Given the description of an element on the screen output the (x, y) to click on. 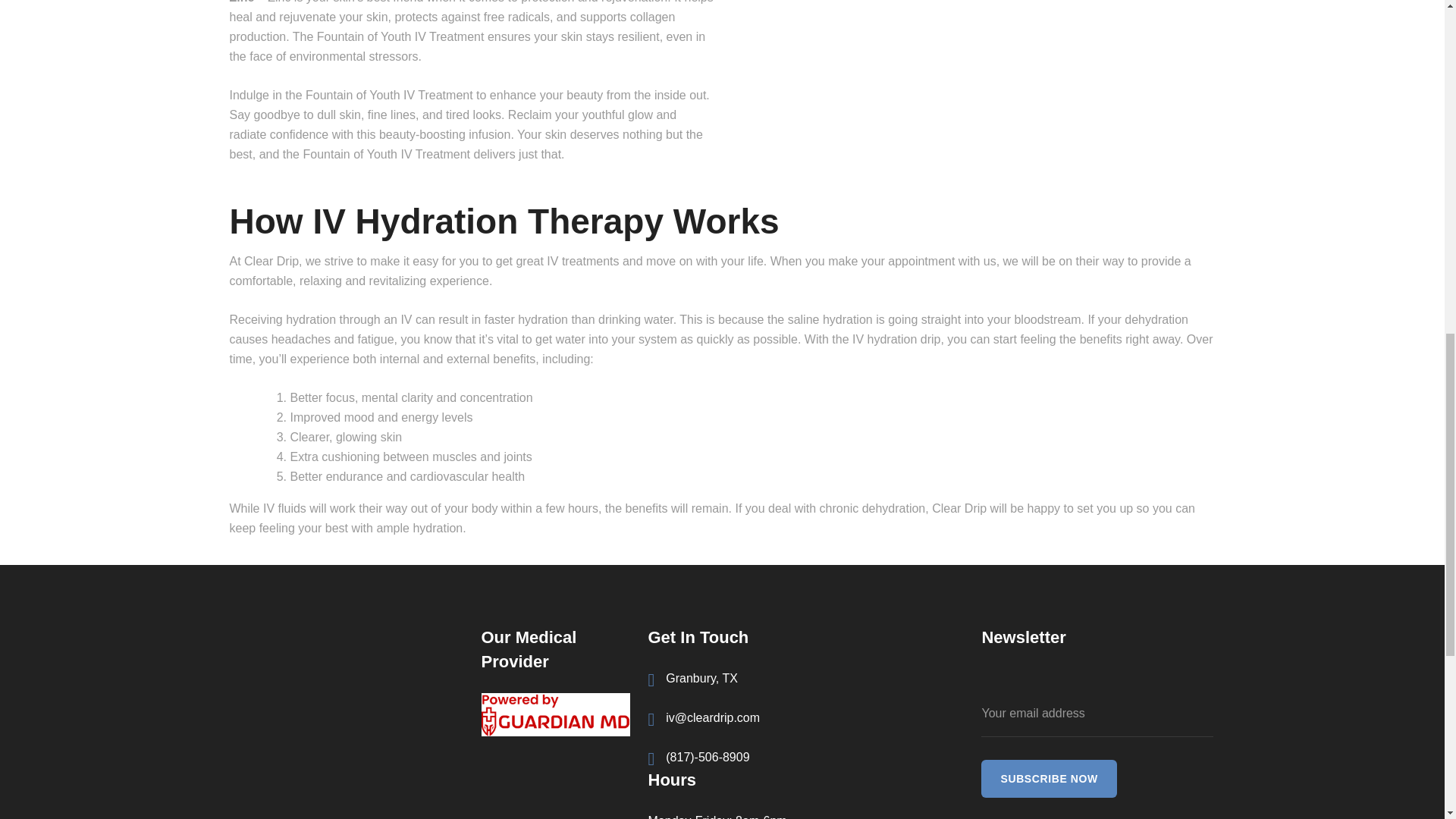
Subscribe Now (1048, 778)
